Given the description of an element on the screen output the (x, y) to click on. 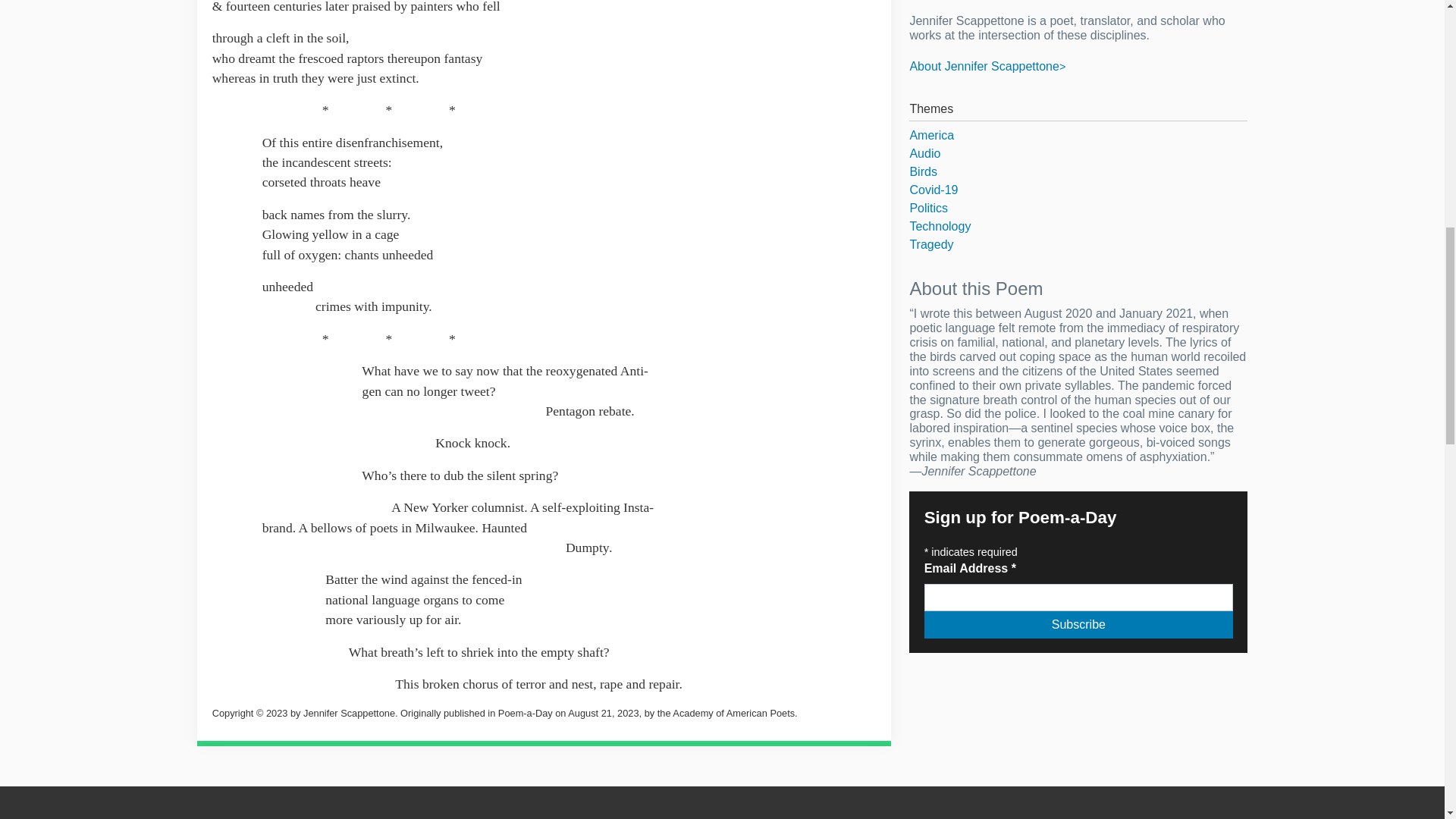
Subscribe (1078, 624)
Birds (1077, 171)
Audio (1077, 153)
America (1077, 135)
About Jennifer Scappettone (986, 65)
Covid-19 (1077, 189)
